Given the description of an element on the screen output the (x, y) to click on. 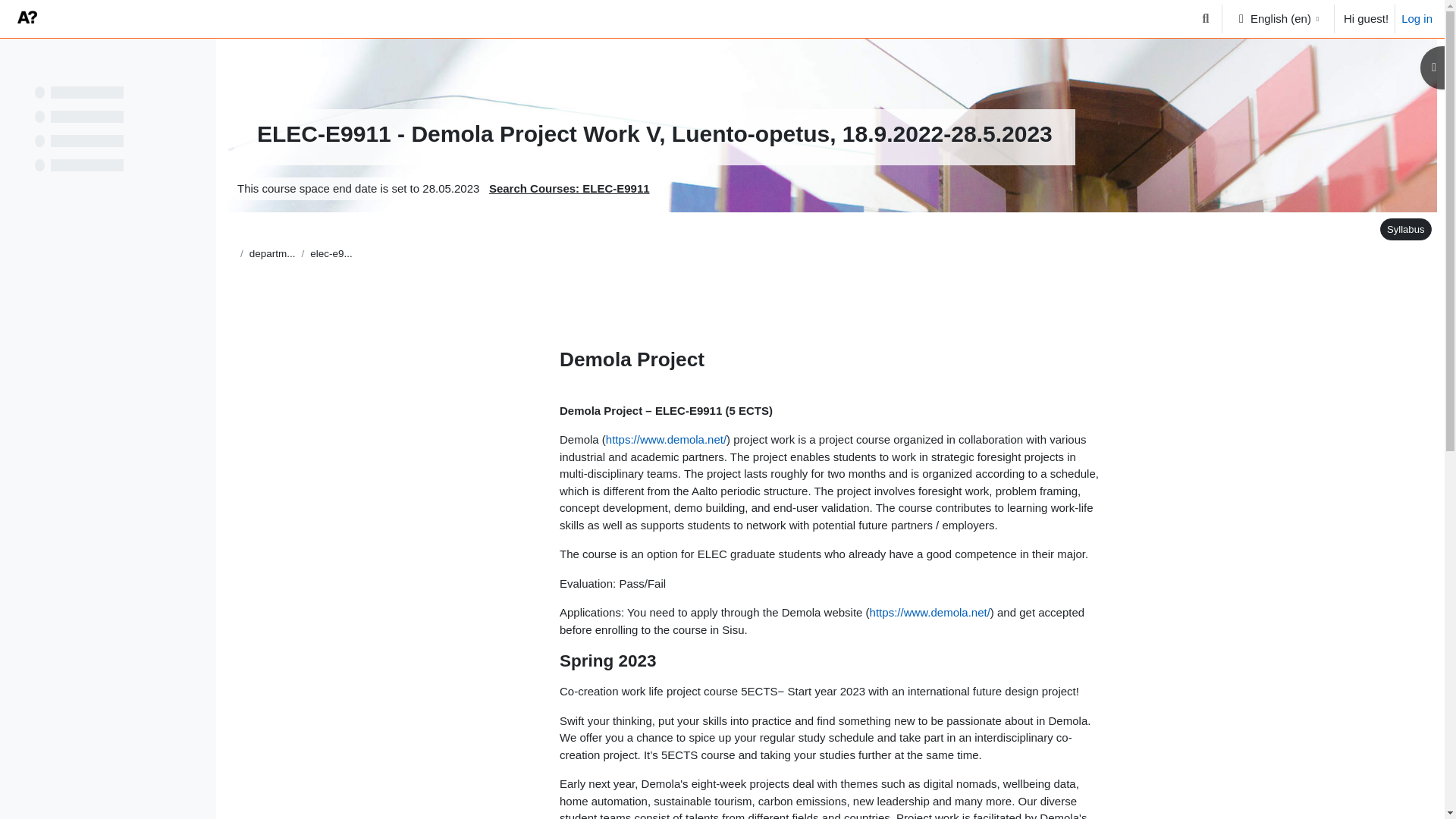
Syllabus (1405, 229)
View course syllabus (1402, 229)
